Given the description of an element on the screen output the (x, y) to click on. 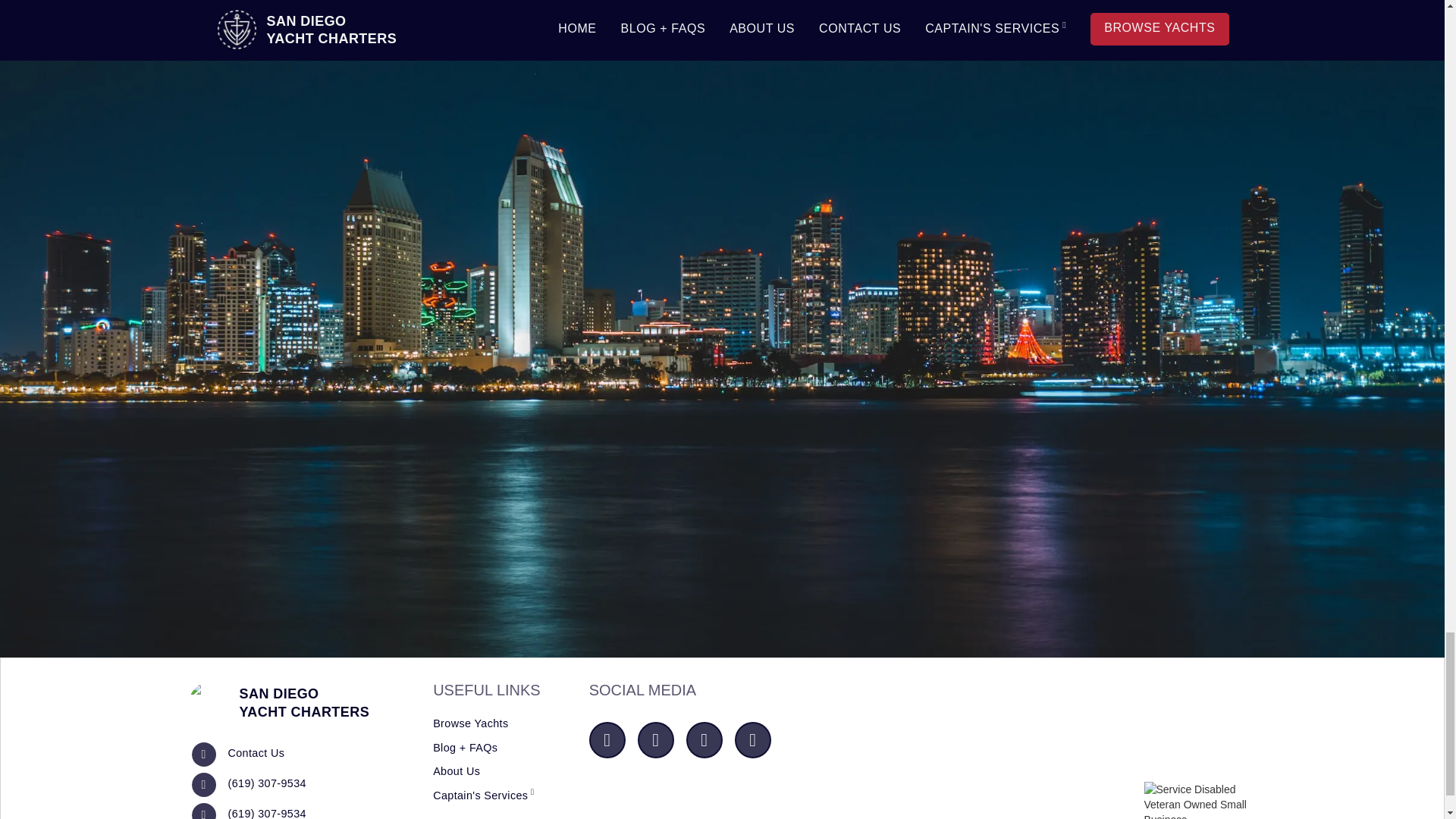
Browse Yachts (470, 724)
Contact Us (278, 702)
About Us (255, 754)
